Given the description of an element on the screen output the (x, y) to click on. 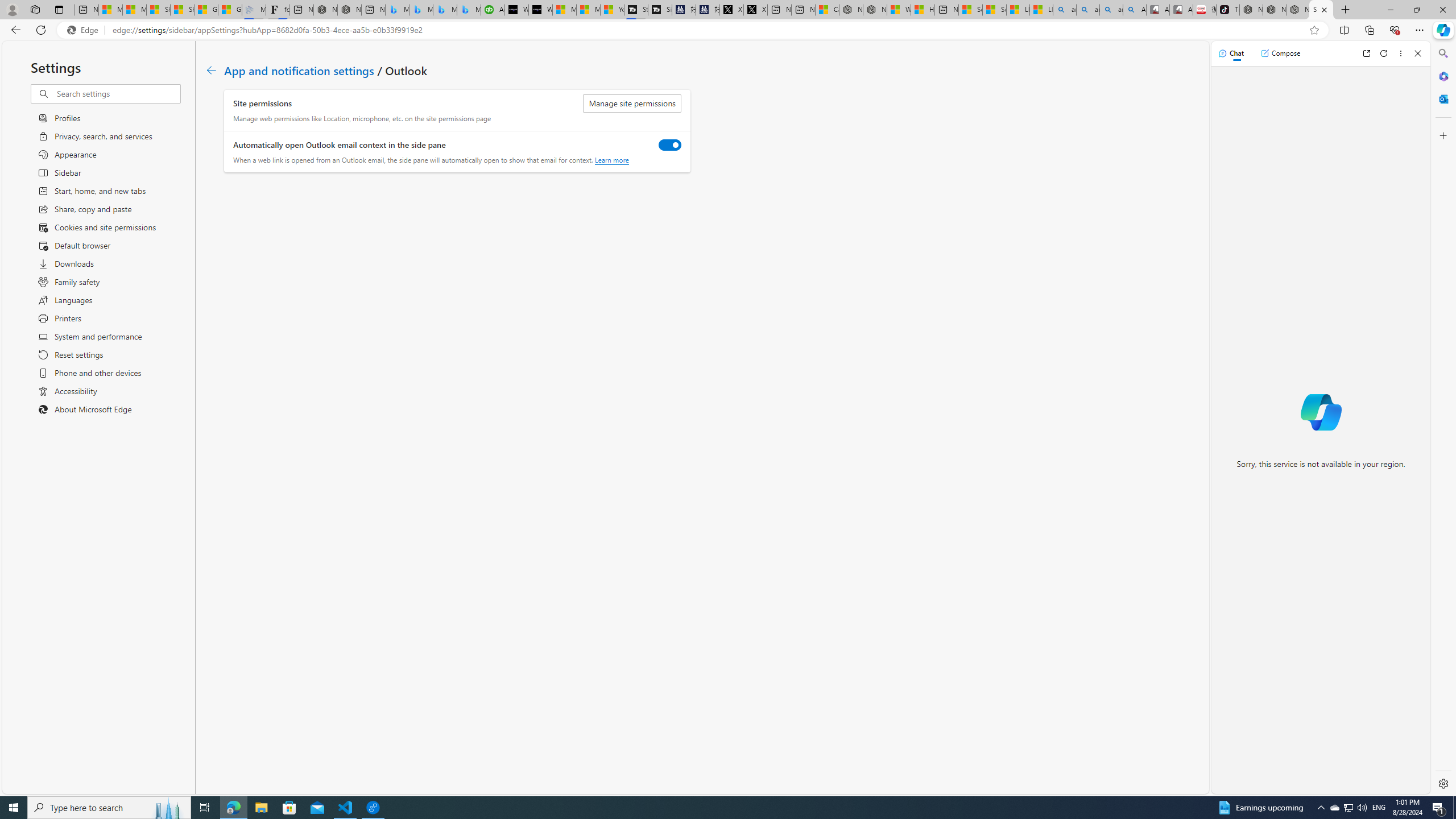
Edge (84, 29)
Learn more (611, 159)
Outlook (1442, 98)
